Given the description of an element on the screen output the (x, y) to click on. 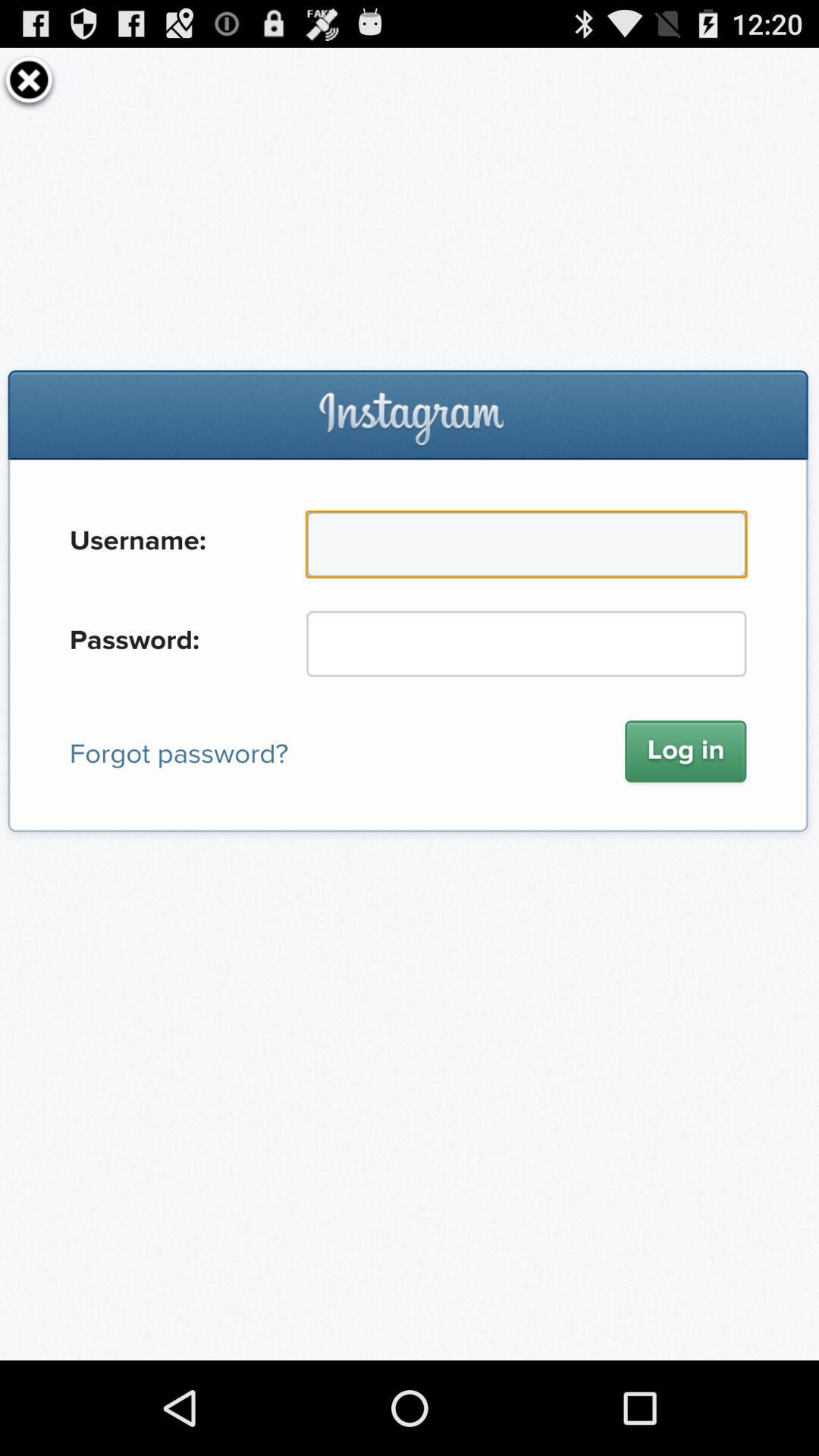
close this tab (29, 79)
